Given the description of an element on the screen output the (x, y) to click on. 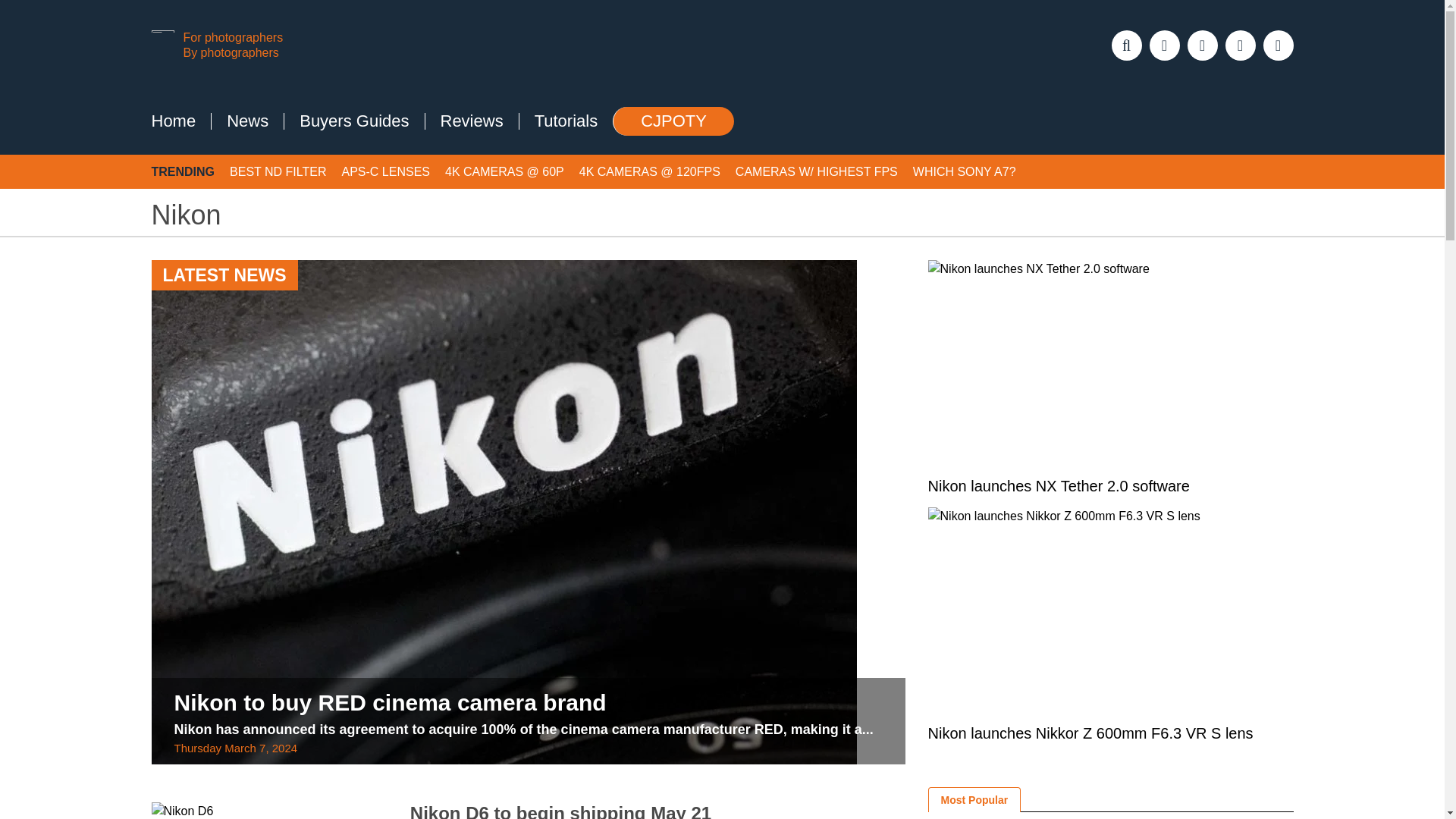
News (247, 121)
Nikon D6 to begin shipping May 21 (560, 811)
Search (26, 16)
Tutorials (565, 121)
Home (173, 121)
Nikon D6 to begin shipping May 21 (269, 810)
BEST ND FILTER (277, 171)
APS-C LENSES (384, 171)
WHICH SONY A7? (964, 171)
Nikon launches Nikkor Z 600mm F6.3 VR S lens (1111, 609)
Reviews (471, 121)
CJPOTY (674, 121)
Nikon D6 to begin shipping May 21 (560, 811)
Buyers Guides (353, 121)
